Given the description of an element on the screen output the (x, y) to click on. 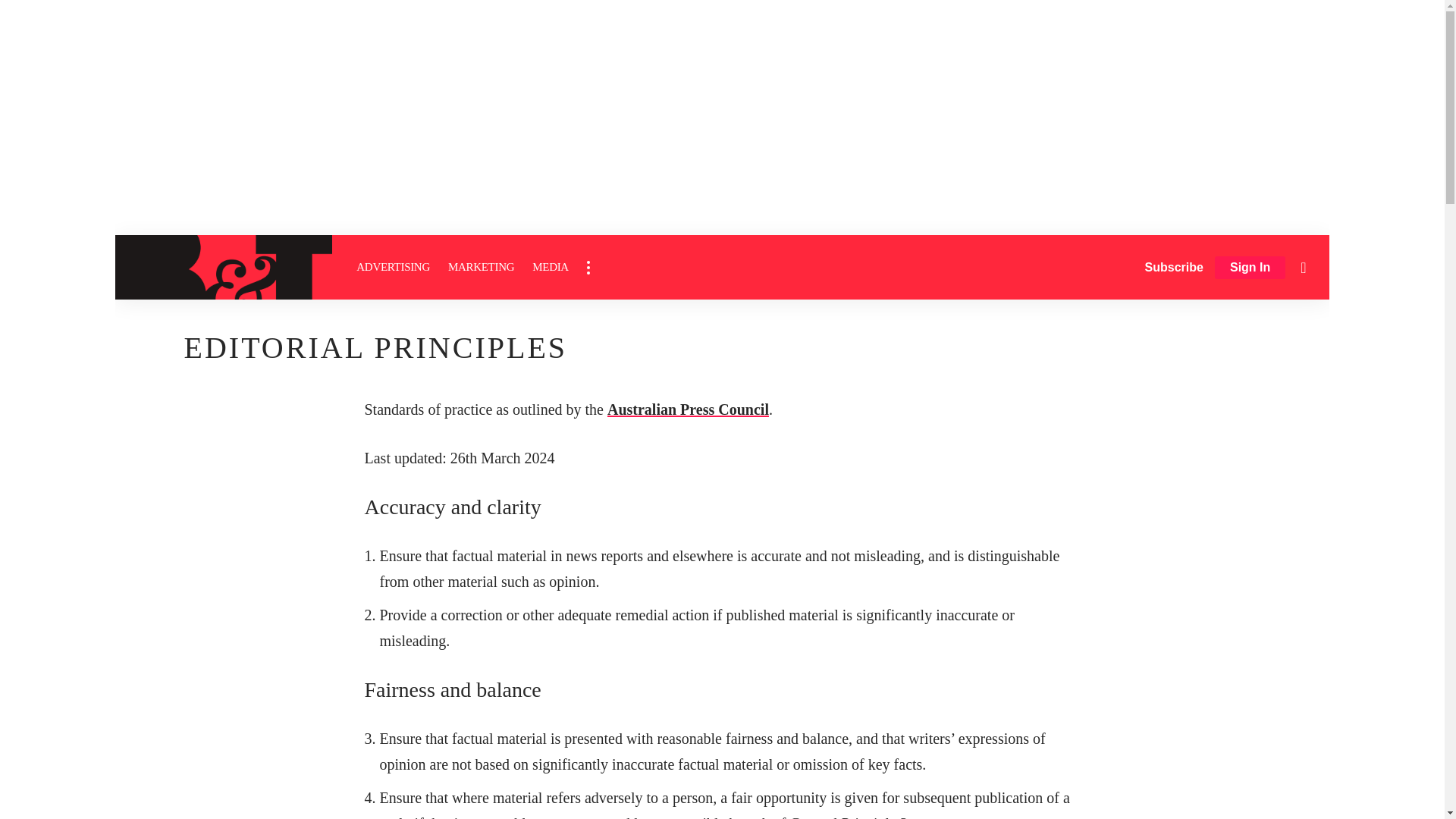
Sign In (1249, 267)
ADVERTISING (393, 267)
MARKETING (480, 267)
MEDIA (550, 267)
Subscribe (1174, 267)
